Given the description of an element on the screen output the (x, y) to click on. 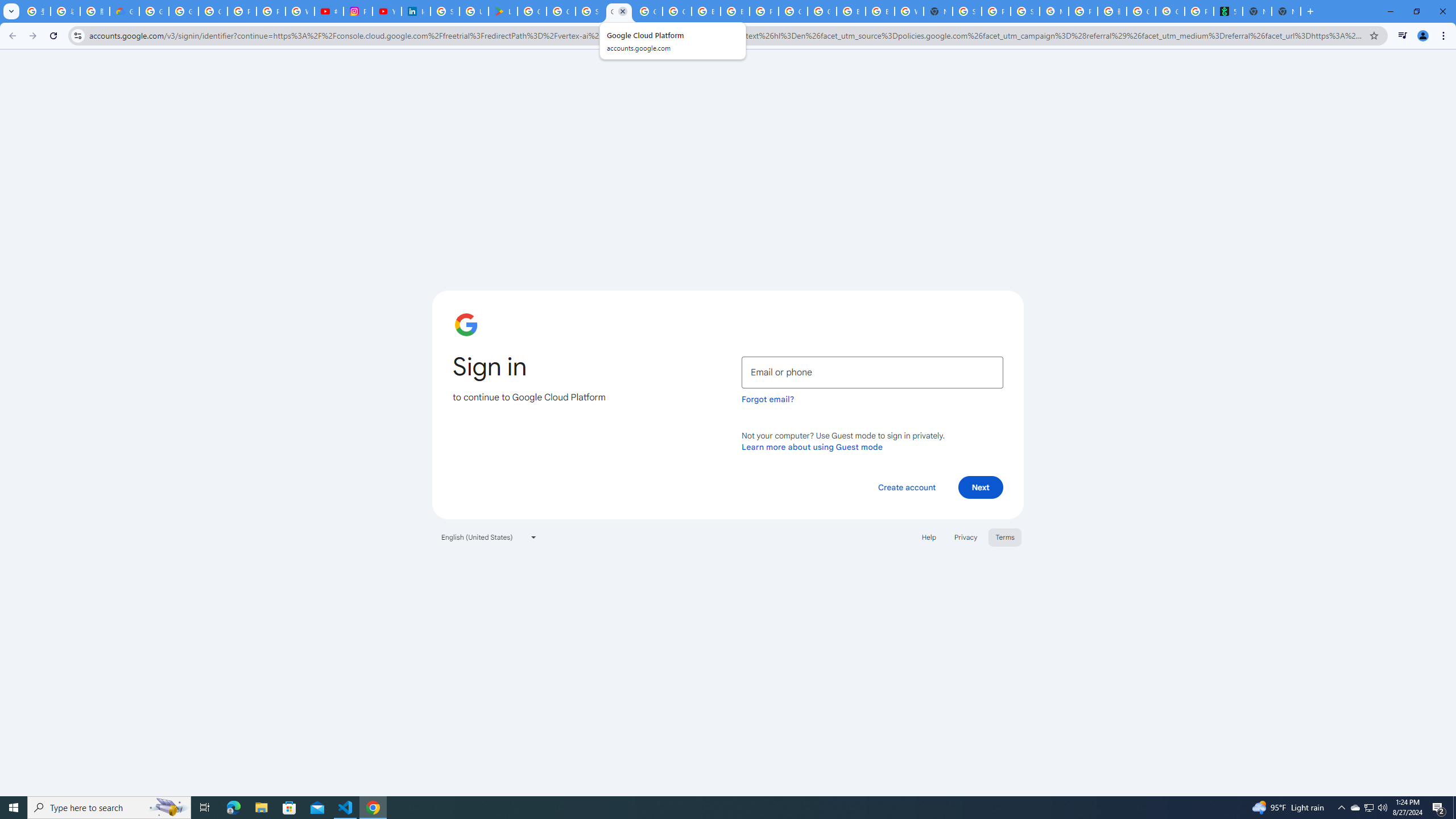
Google Cloud Platform (792, 11)
Forgot email? (767, 398)
English (United States) (489, 536)
